Given the description of an element on the screen output the (x, y) to click on. 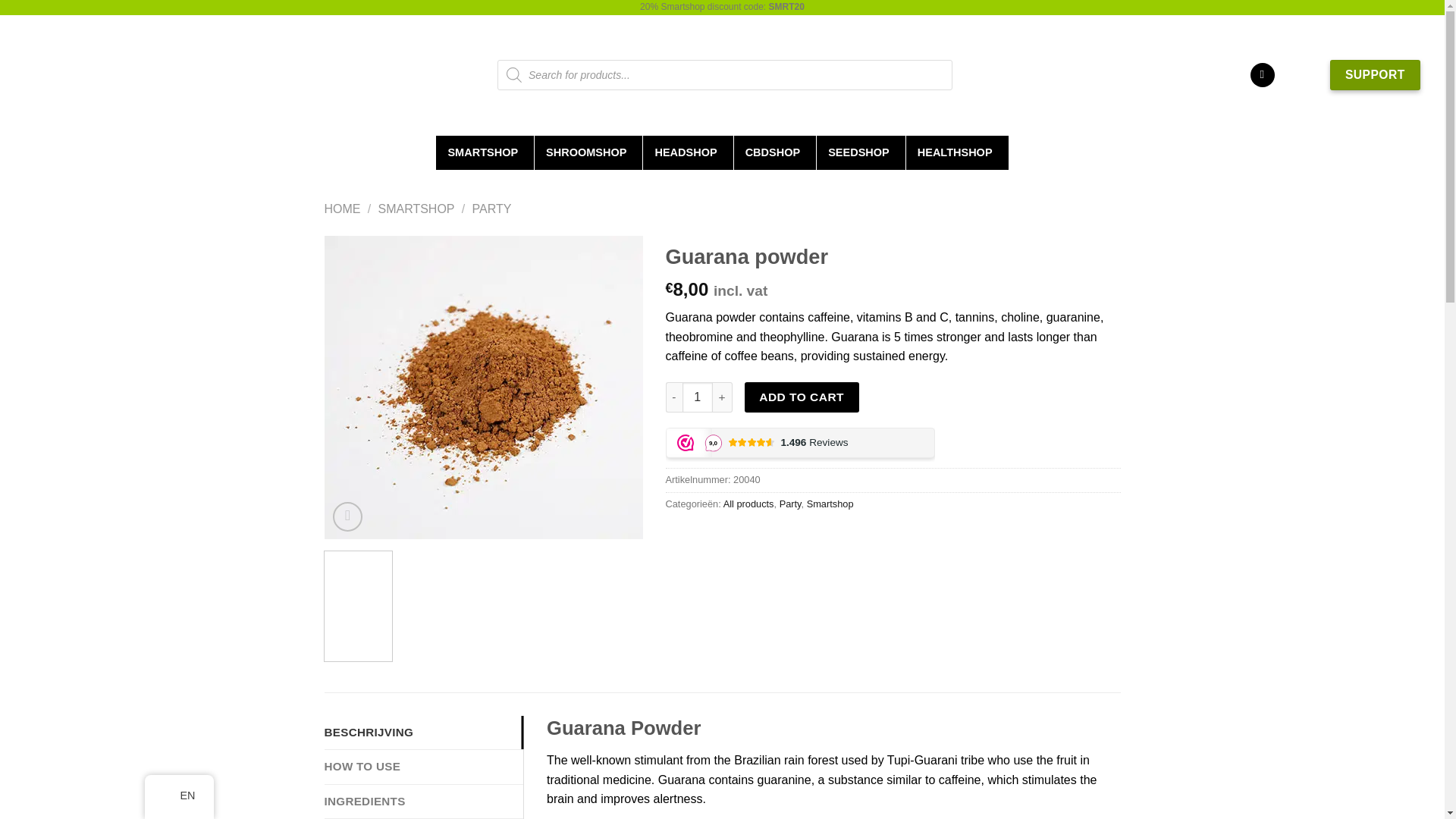
Login (1262, 75)
Guarana powder - Tatanka.nl (440, 604)
SUPPORT (1374, 74)
Guarana powder - Tatanka.nl (801, 386)
SMARTSHOP (484, 152)
SHROOMSHOP (588, 152)
English (168, 795)
Zoom (347, 516)
Tatanka Amsterdam Webshop (94, 71)
Guarana powder - Tatanka.nl (483, 386)
